Given the description of an element on the screen output the (x, y) to click on. 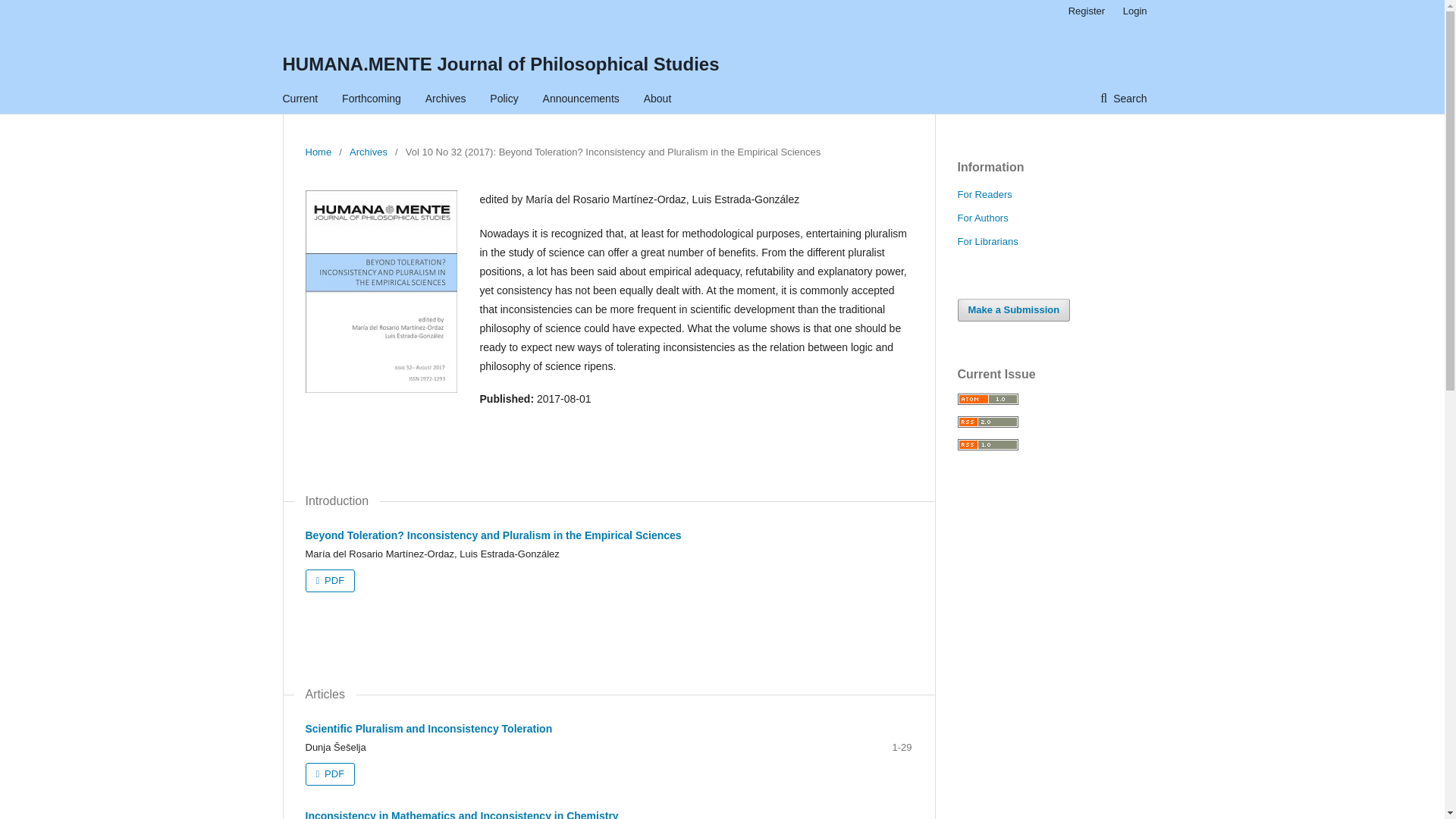
PDF (329, 580)
Forthcoming (371, 98)
Search (1122, 98)
Current (299, 98)
PDF (329, 773)
Register (1086, 11)
HUMANA.MENTE Journal of Philosophical Studies (500, 64)
Home (317, 151)
Archives (445, 98)
Login (1131, 11)
